Given the description of an element on the screen output the (x, y) to click on. 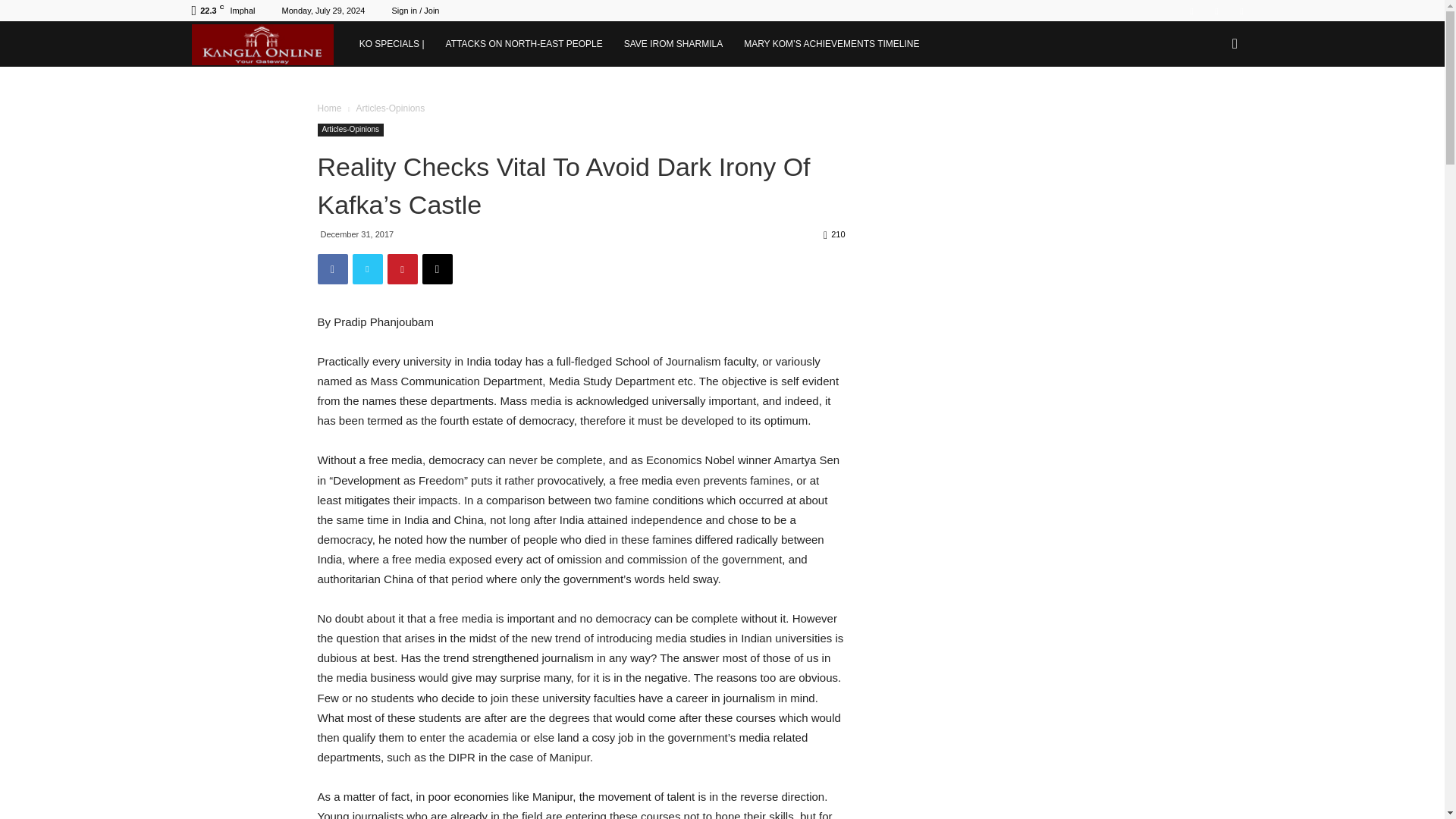
Facebook (1190, 10)
ATTACKS ON NORTH-EAST PEOPLE (523, 43)
KanglaOnline (268, 43)
Articles-Opinions (350, 129)
Twitter (1216, 10)
Search (1210, 109)
SAVE IROM SHARMILA (672, 43)
Youtube (1241, 10)
Home (328, 108)
